Given the description of an element on the screen output the (x, y) to click on. 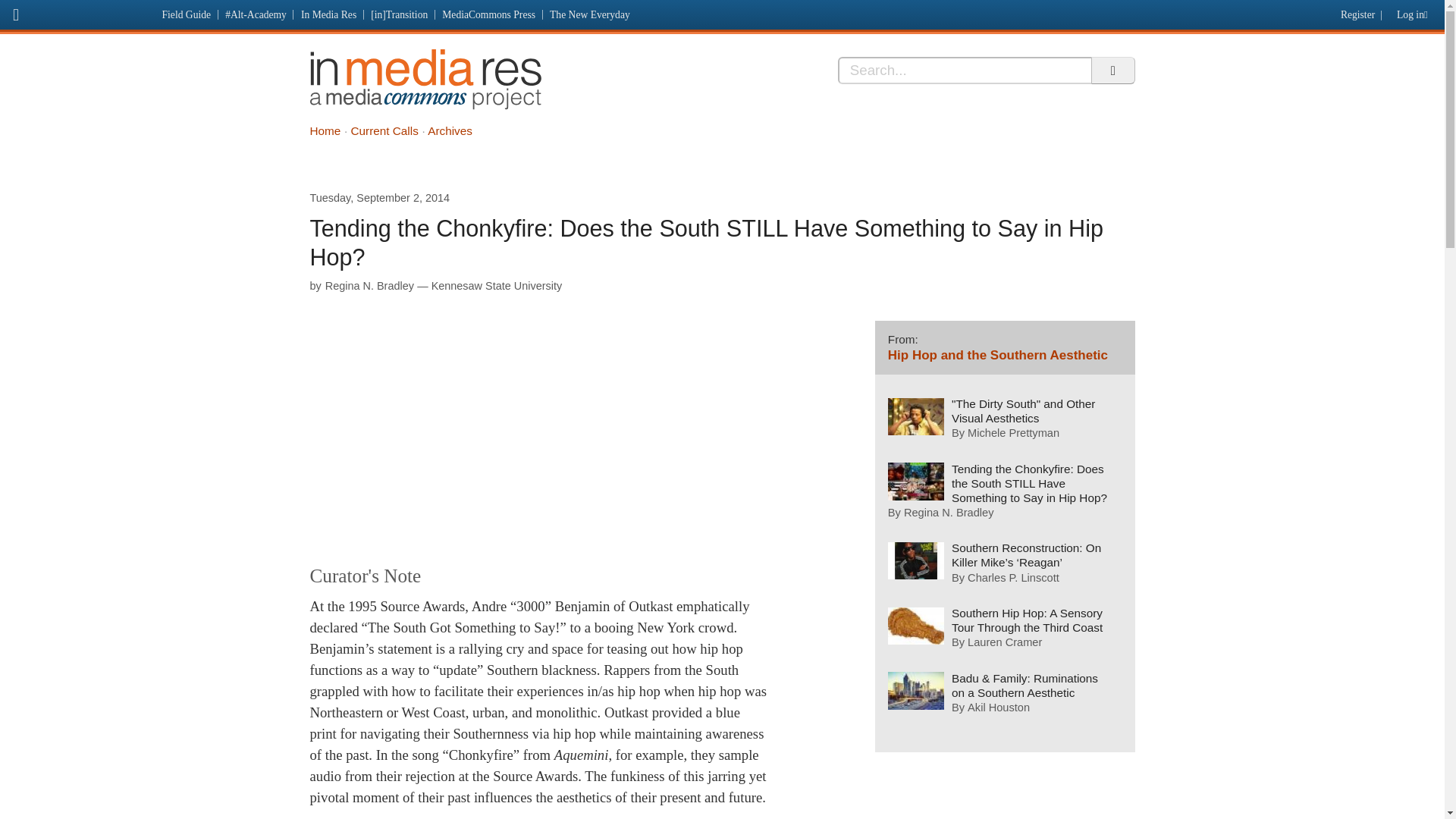
In Media Res (424, 79)
Enter the terms you wish to search for. (965, 70)
Kennesaw State University (496, 285)
The New Everyday (590, 14)
Log in (1414, 11)
Field Guide (186, 14)
Register (1355, 11)
In Media Res (328, 14)
Current Calls (384, 130)
